Given the description of an element on the screen output the (x, y) to click on. 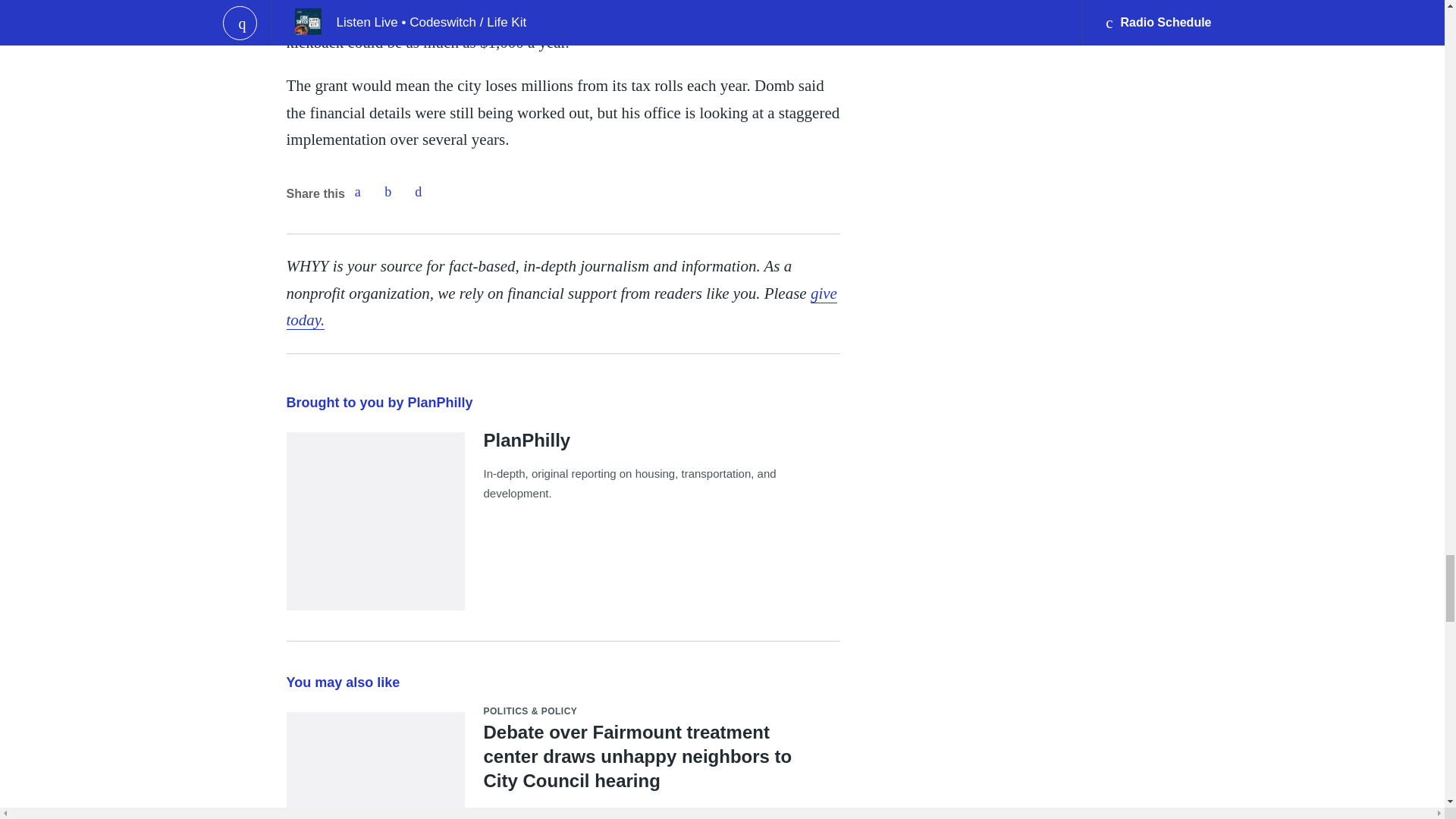
Twitter (387, 191)
Email (418, 191)
Facebook (357, 191)
